Given the description of an element on the screen output the (x, y) to click on. 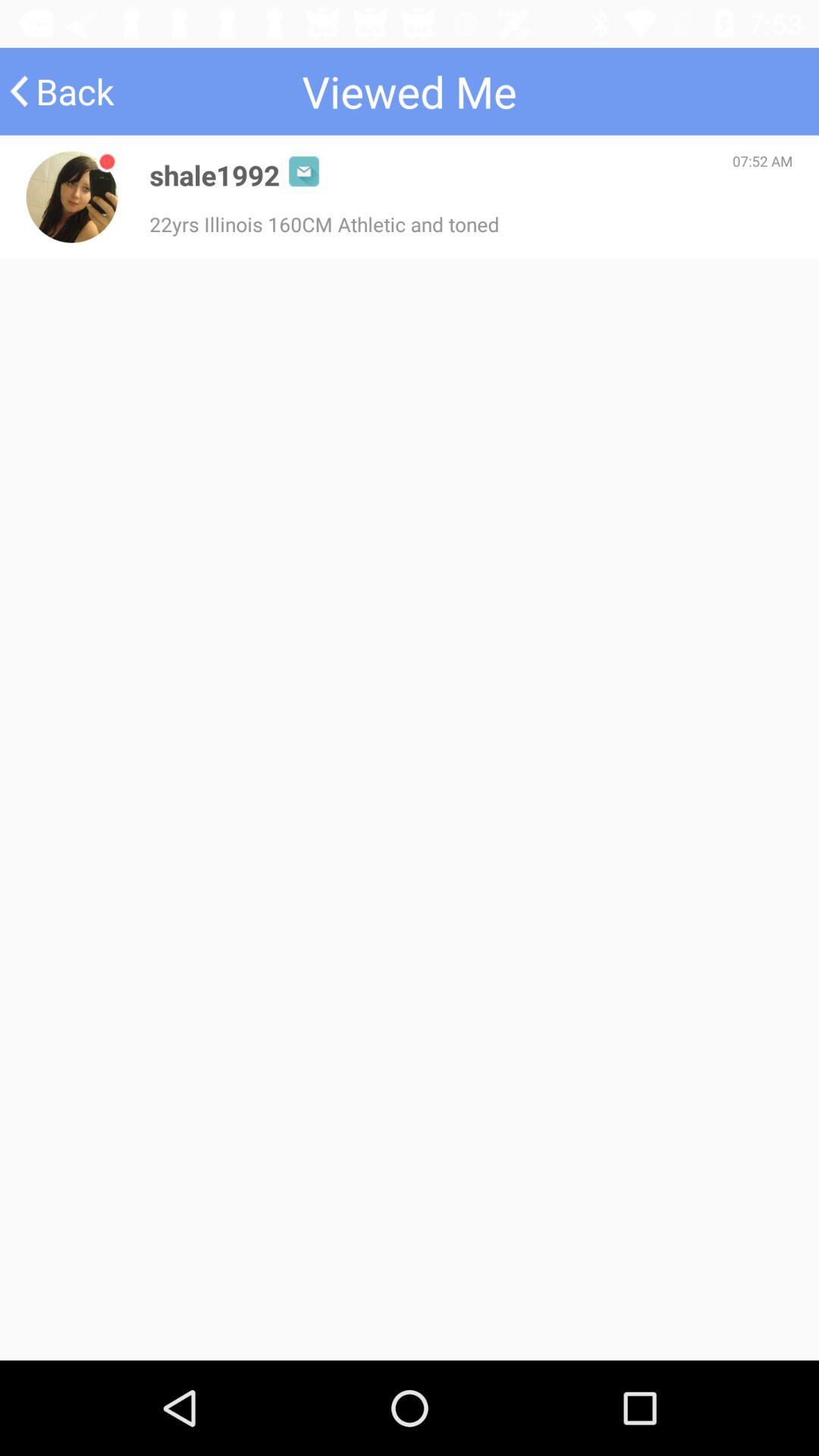
scroll to the shale1992 (214, 174)
